Given the description of an element on the screen output the (x, y) to click on. 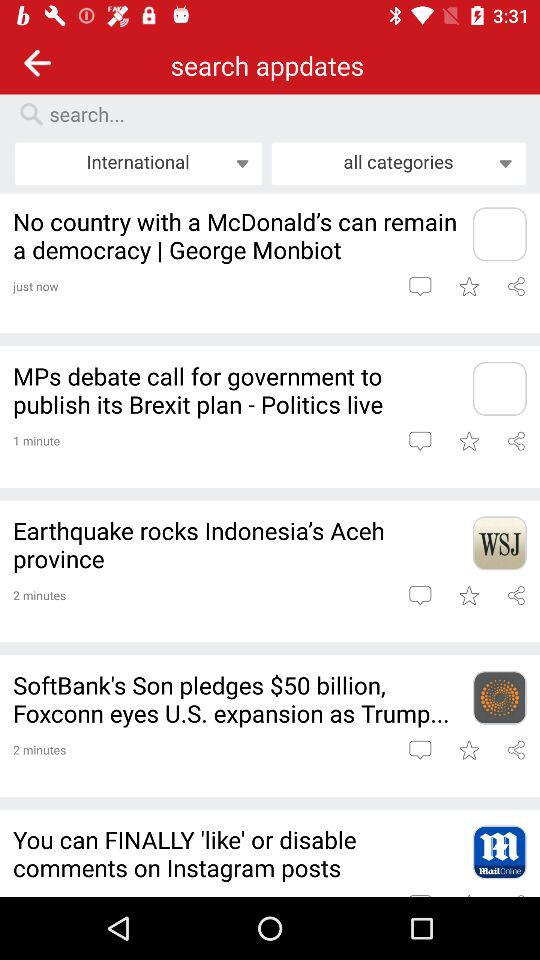
click for more (499, 234)
